Given the description of an element on the screen output the (x, y) to click on. 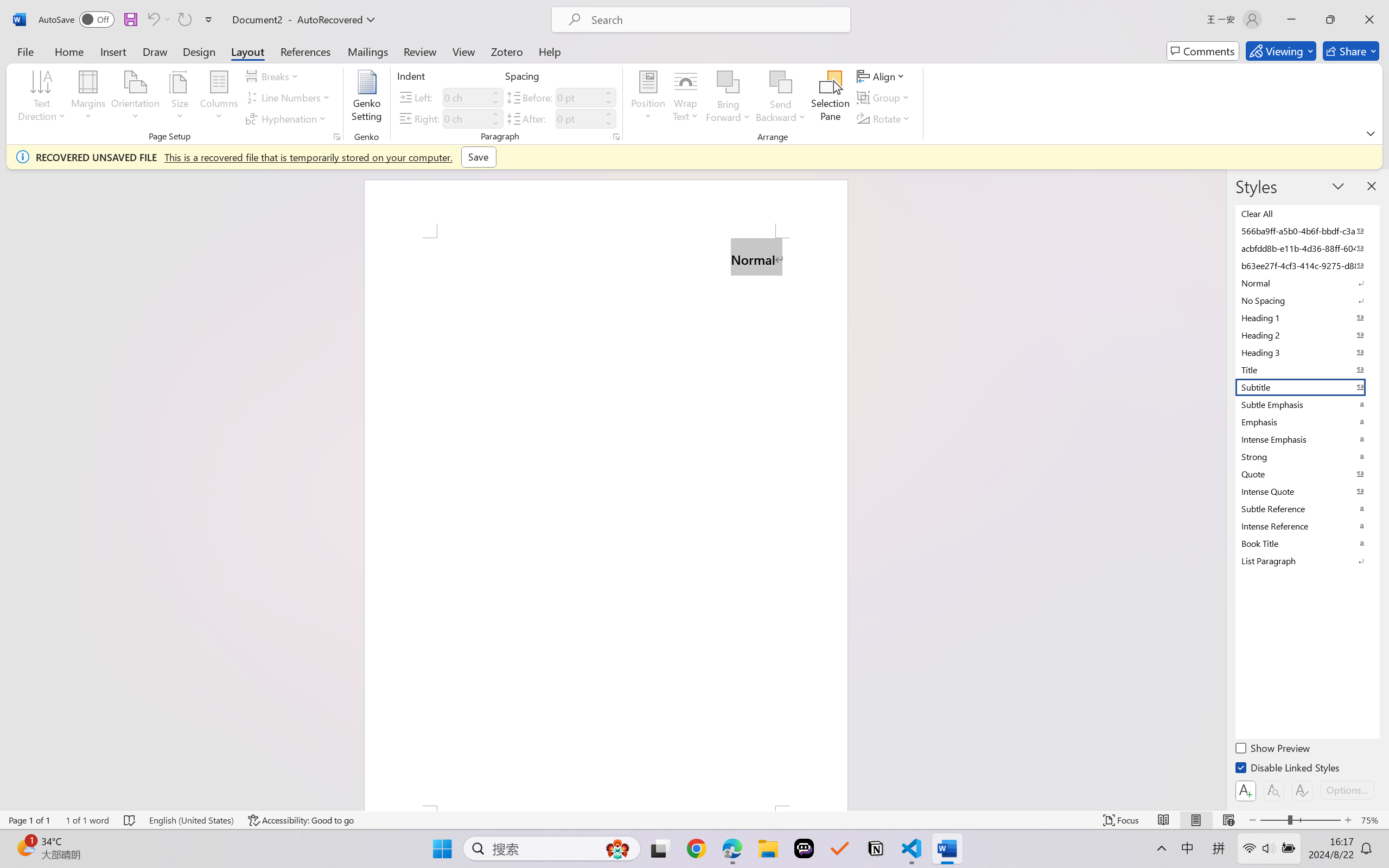
Zoom 75% (1372, 819)
Task Pane Options (1338, 185)
Microsoft search (715, 19)
Intense Quote (1306, 490)
Send Backward (781, 97)
Orientation (135, 97)
Help (549, 51)
Less (608, 123)
More (608, 113)
